Given the description of an element on the screen output the (x, y) to click on. 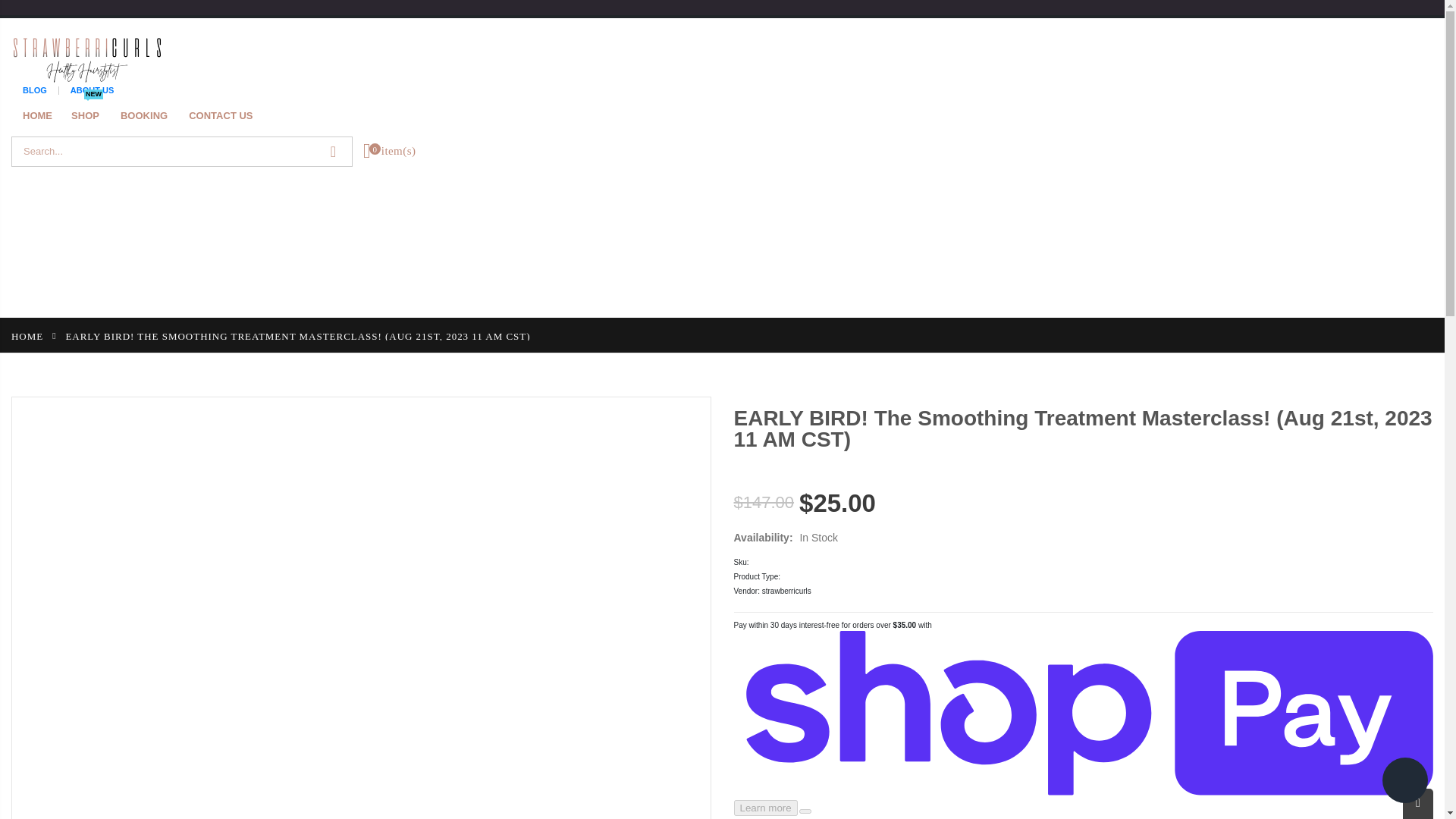
CONTACT US (90, 116)
HOME (226, 116)
ABOUT US (27, 335)
HOME (91, 89)
BOOKING (43, 116)
Back to the frontpage (149, 116)
Search (27, 335)
BLOG (332, 150)
